Given the description of an element on the screen output the (x, y) to click on. 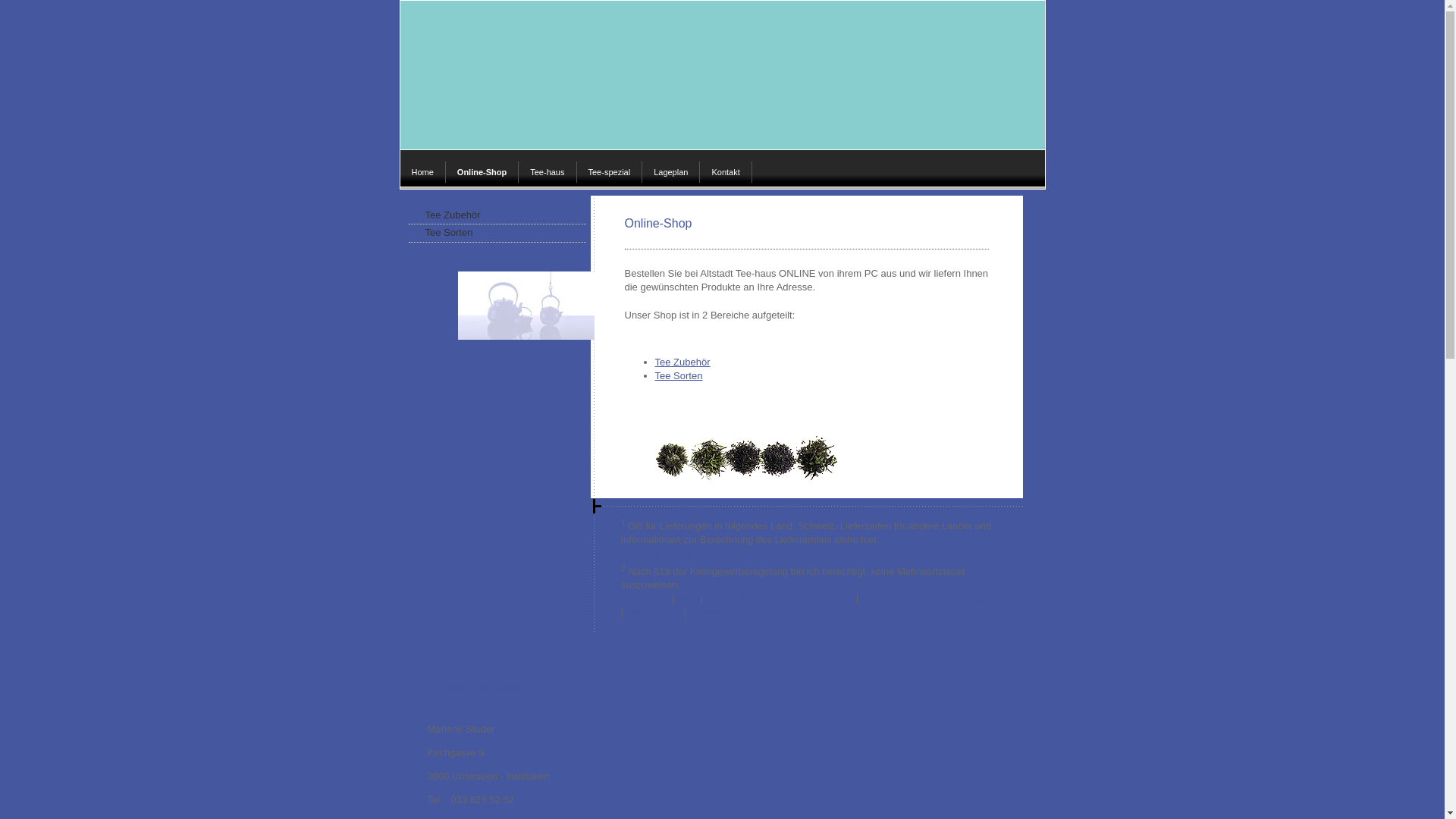
Tee-haus Element type: text (547, 171)
Kontakt Element type: text (725, 171)
Online-Shop Element type: text (481, 171)
Datenschutz Element type: text (653, 612)
Home Element type: text (422, 171)
AGB Element type: text (687, 598)
Lageplan Element type: text (670, 171)
Tee Sorten Element type: text (496, 232)
Widerrufsbelehrung und -formular Element type: text (779, 598)
Tee-spezial Element type: text (609, 171)
Liefer- und Zahlungsbedingungen Element type: text (934, 598)
Liefer- und Zahlungsbedingungen Element type: text (774, 545)
Sitemap Element type: text (706, 612)
Impressum Element type: text (644, 598)
Tee Sorten Element type: text (678, 375)
